Given the description of an element on the screen output the (x, y) to click on. 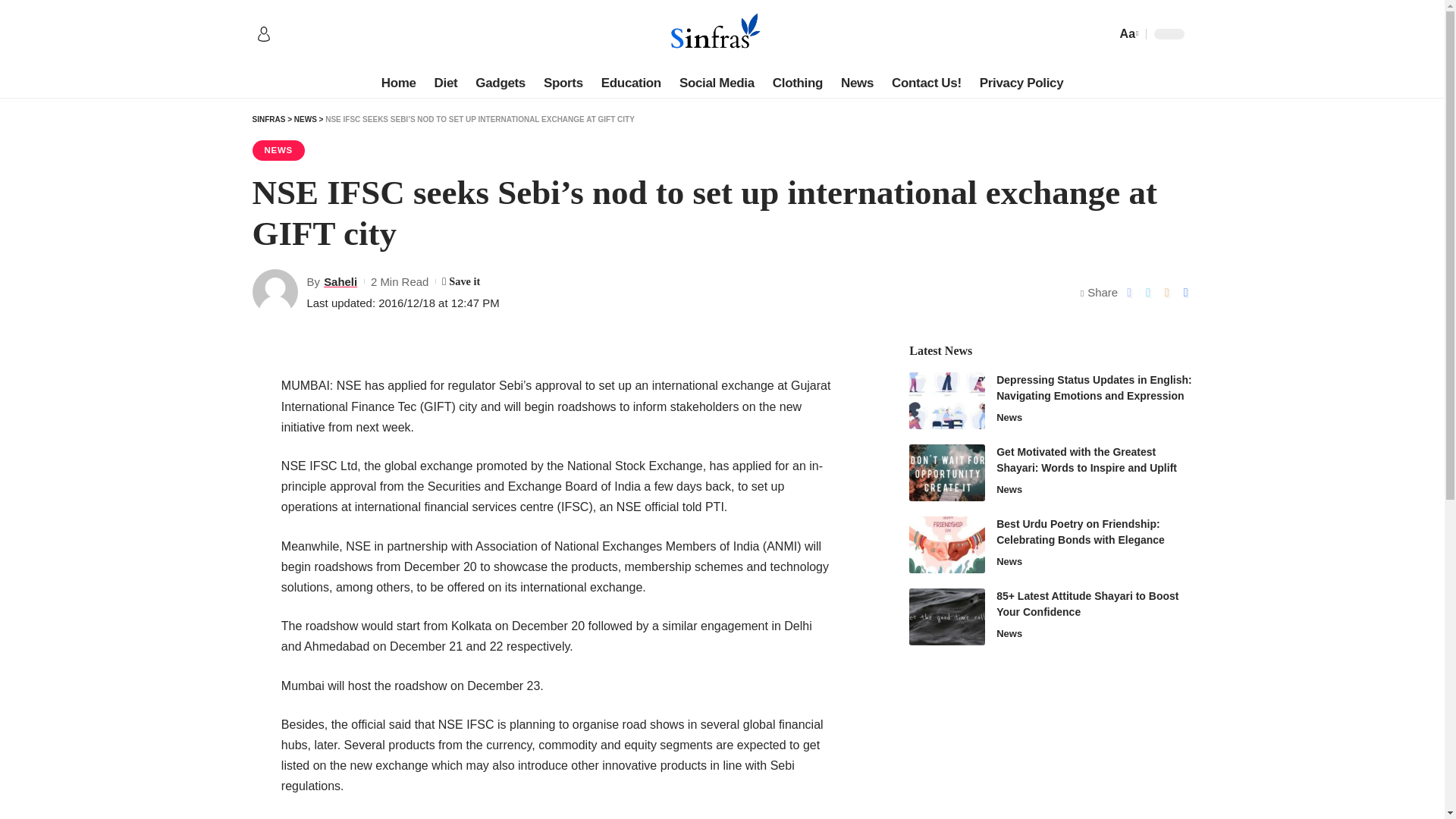
Contact Us! (926, 82)
NEWS (277, 150)
Sports (563, 82)
News (856, 82)
Privacy Policy (1022, 82)
Education (630, 82)
Clothing (796, 82)
Diet (446, 82)
Home (398, 82)
Gadgets (499, 82)
Social Media (715, 82)
NEWS (305, 119)
Sinfras (721, 33)
